Given the description of an element on the screen output the (x, y) to click on. 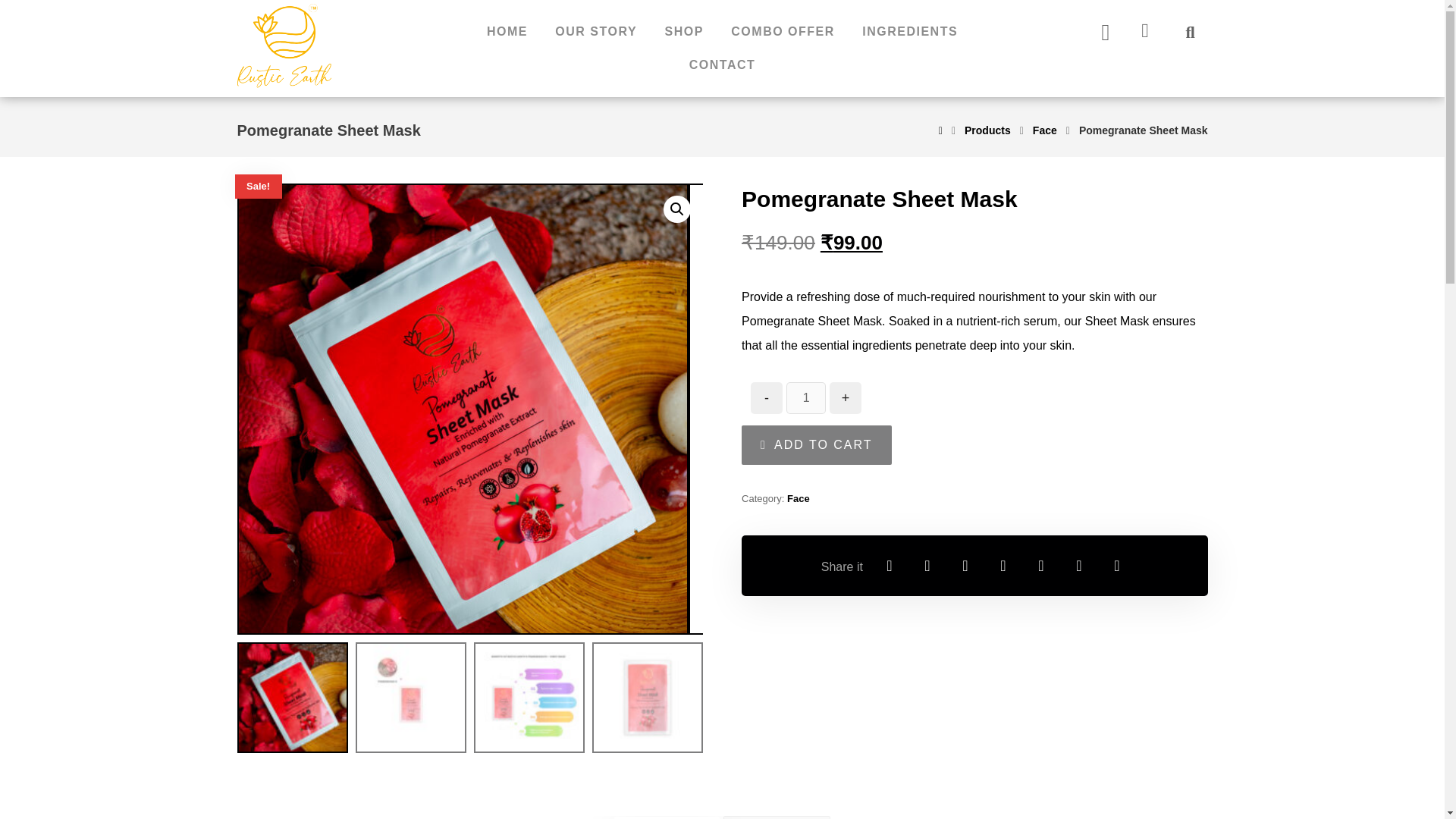
OUR STORY (596, 31)
CONTACT (722, 64)
HOME (506, 31)
COMBO OFFER (783, 31)
Products (986, 130)
INGREDIENTS (909, 31)
Qty (805, 398)
Face (1044, 130)
